Given the description of an element on the screen output the (x, y) to click on. 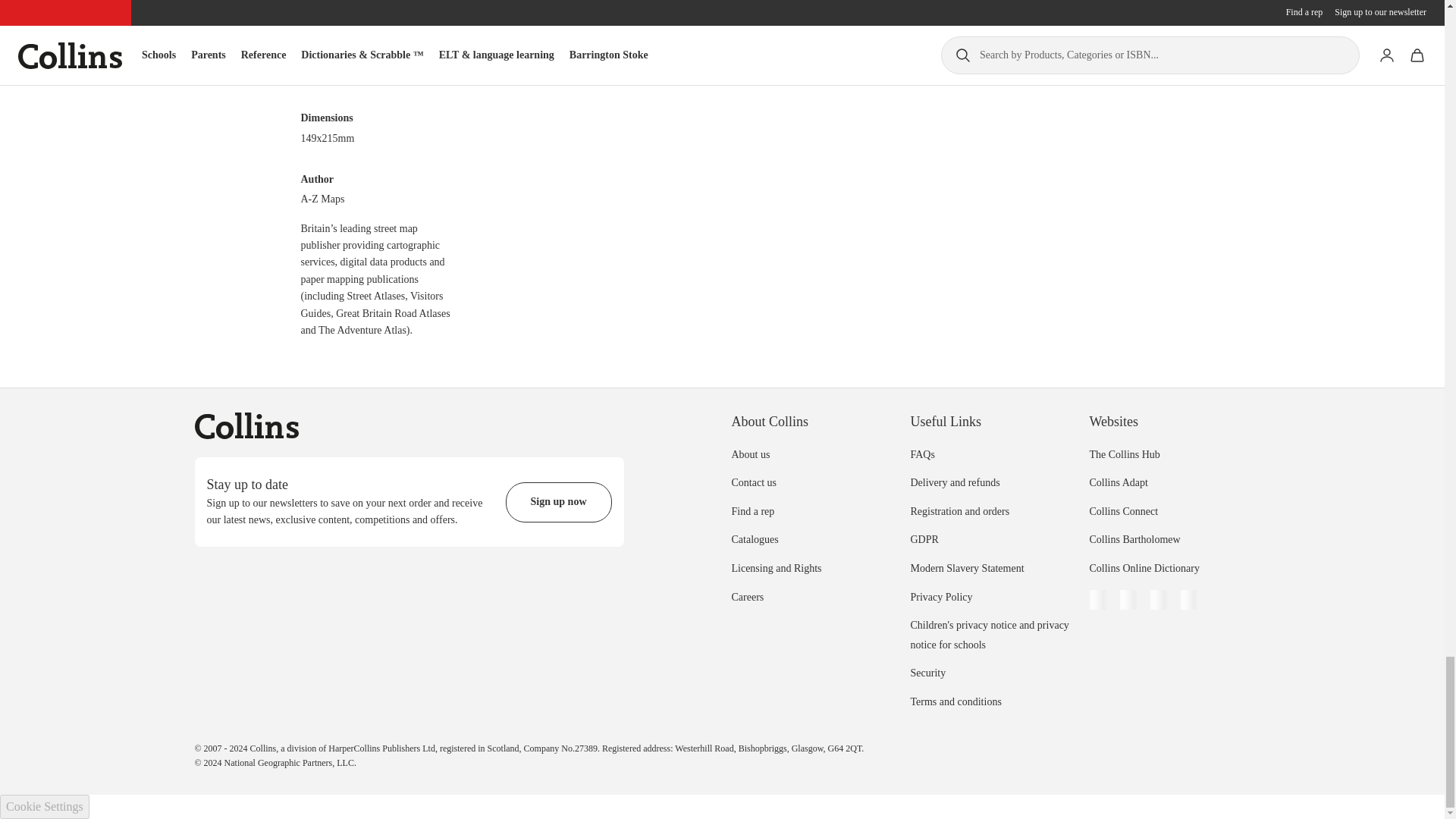
Privacy Policy (941, 596)
Sign up now (558, 501)
Children's privacy notice and privacy notice for schools (989, 634)
GDPR (923, 539)
Registration and orders (959, 511)
Terms and conditions (955, 701)
Modern Slavery Statement (966, 568)
Delivery and refunds (954, 482)
Careers (746, 596)
Catalogues (753, 539)
